Given the description of an element on the screen output the (x, y) to click on. 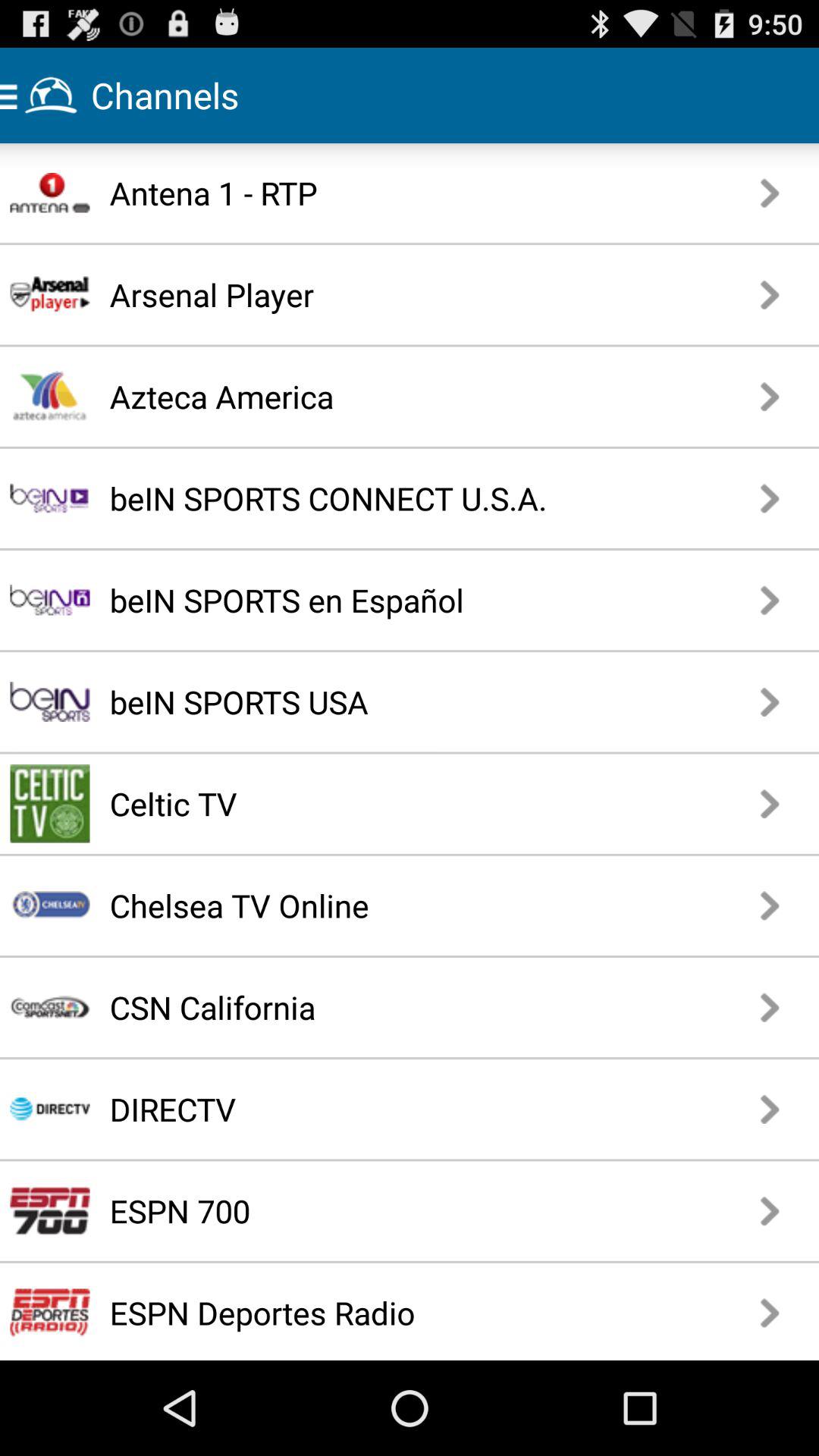
open the arsenal player icon (366, 294)
